Given the description of an element on the screen output the (x, y) to click on. 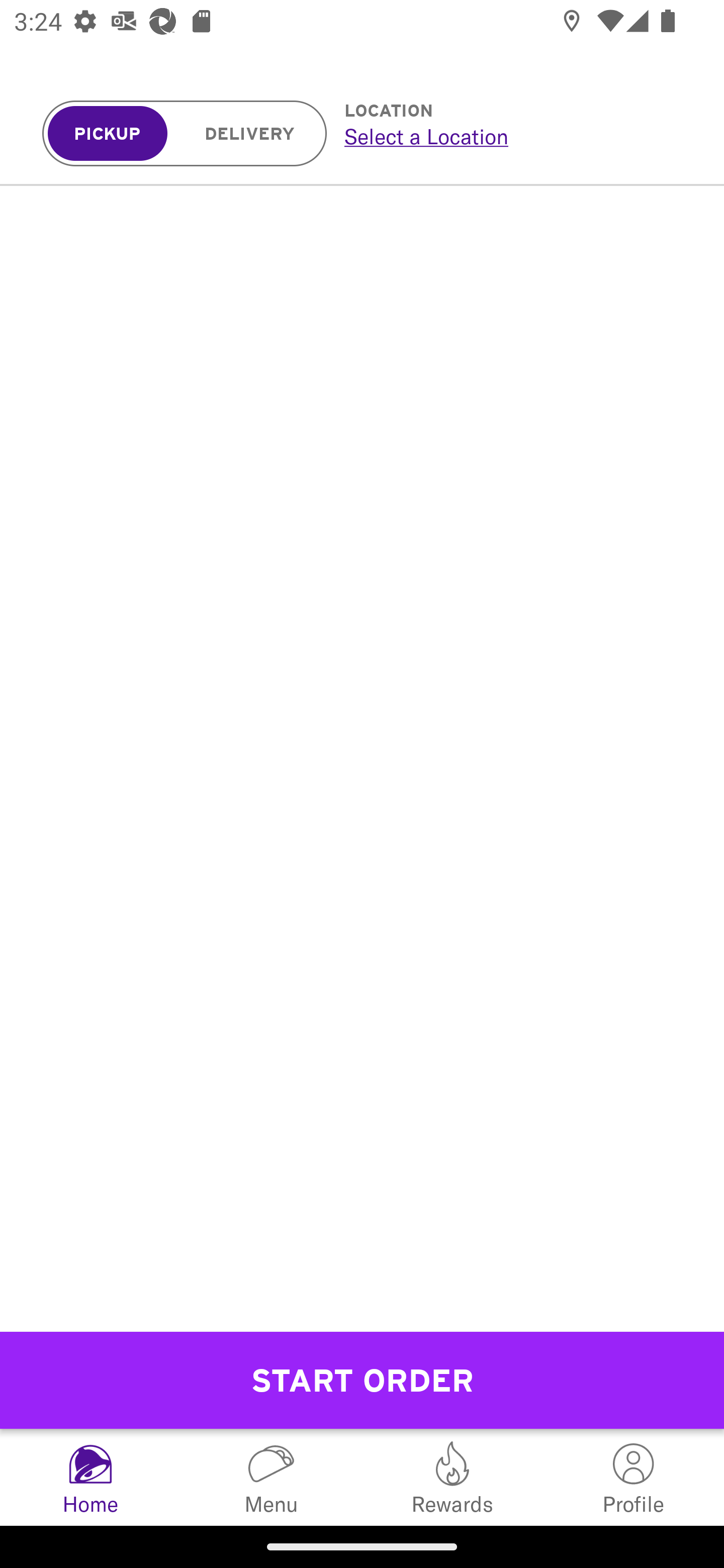
PICKUP (107, 133)
DELIVERY (249, 133)
Select a Location (511, 136)
START ORDER (362, 1379)
Home (90, 1476)
Menu (271, 1476)
Rewards (452, 1476)
My Info Profile (633, 1476)
